Given the description of an element on the screen output the (x, y) to click on. 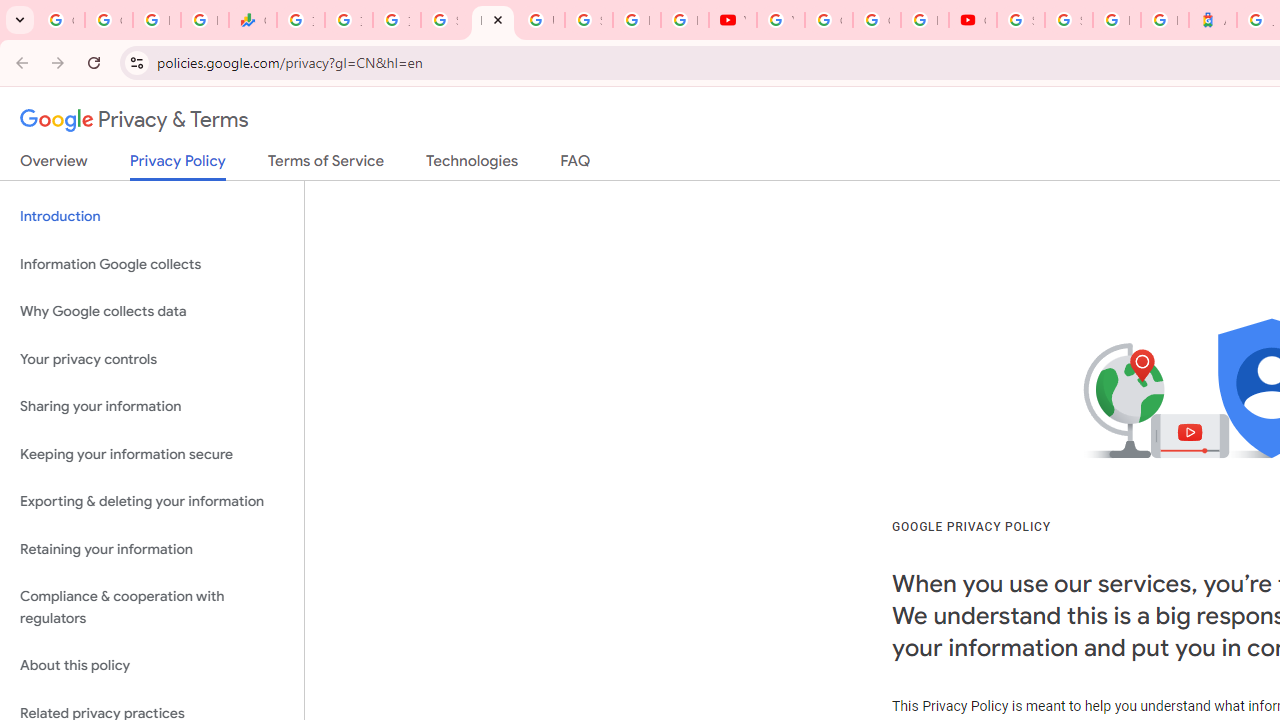
YouTube (732, 20)
Privacy Checkup (684, 20)
Create your Google Account (876, 20)
Content Creator Programs & Opportunities - YouTube Creators (972, 20)
